Given the description of an element on the screen output the (x, y) to click on. 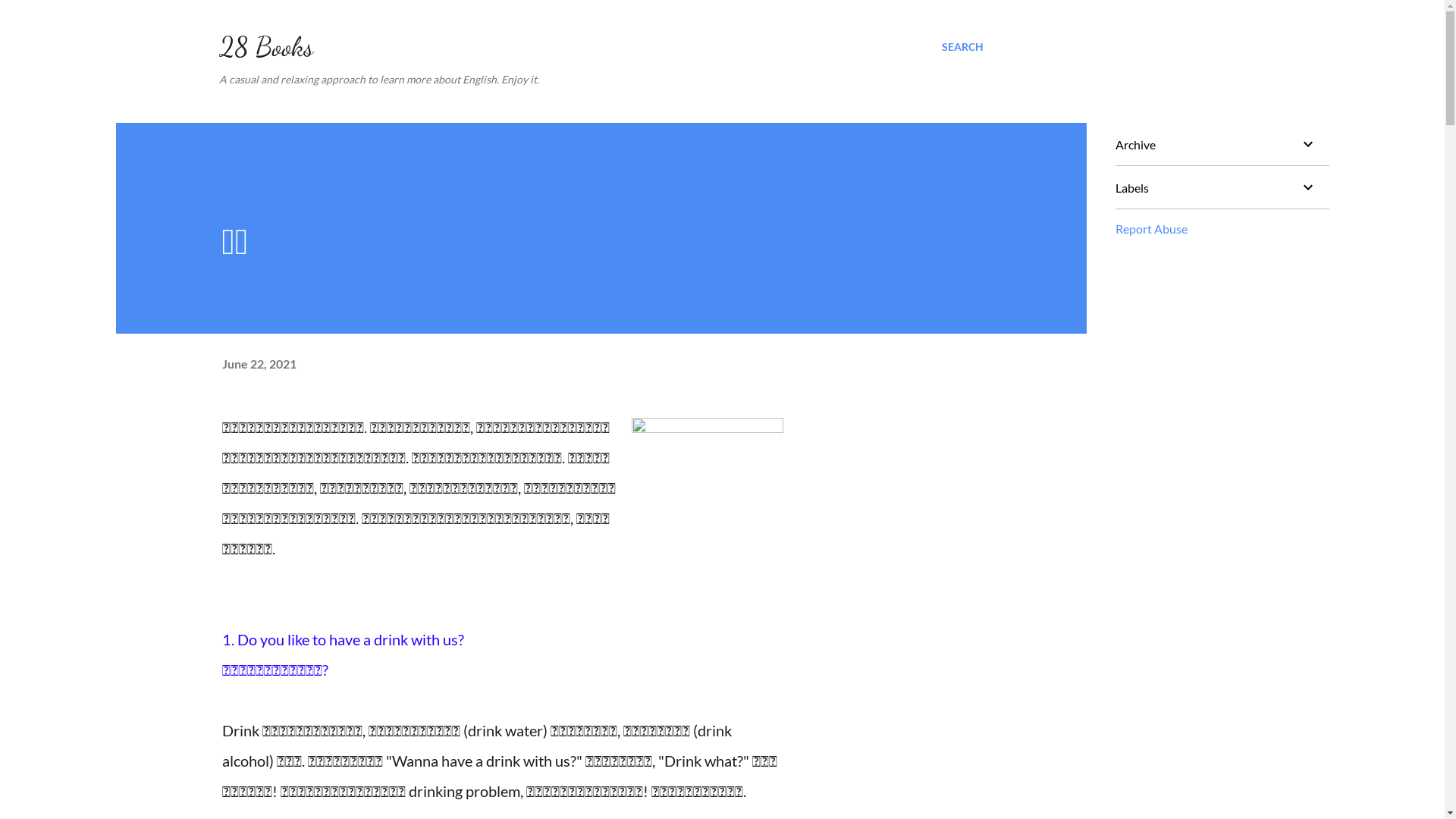
Report Abuse Element type: text (1150, 228)
28 Books Element type: text (265, 46)
June 22, 2021 Element type: text (258, 363)
SEARCH Element type: text (962, 46)
